Given the description of an element on the screen output the (x, y) to click on. 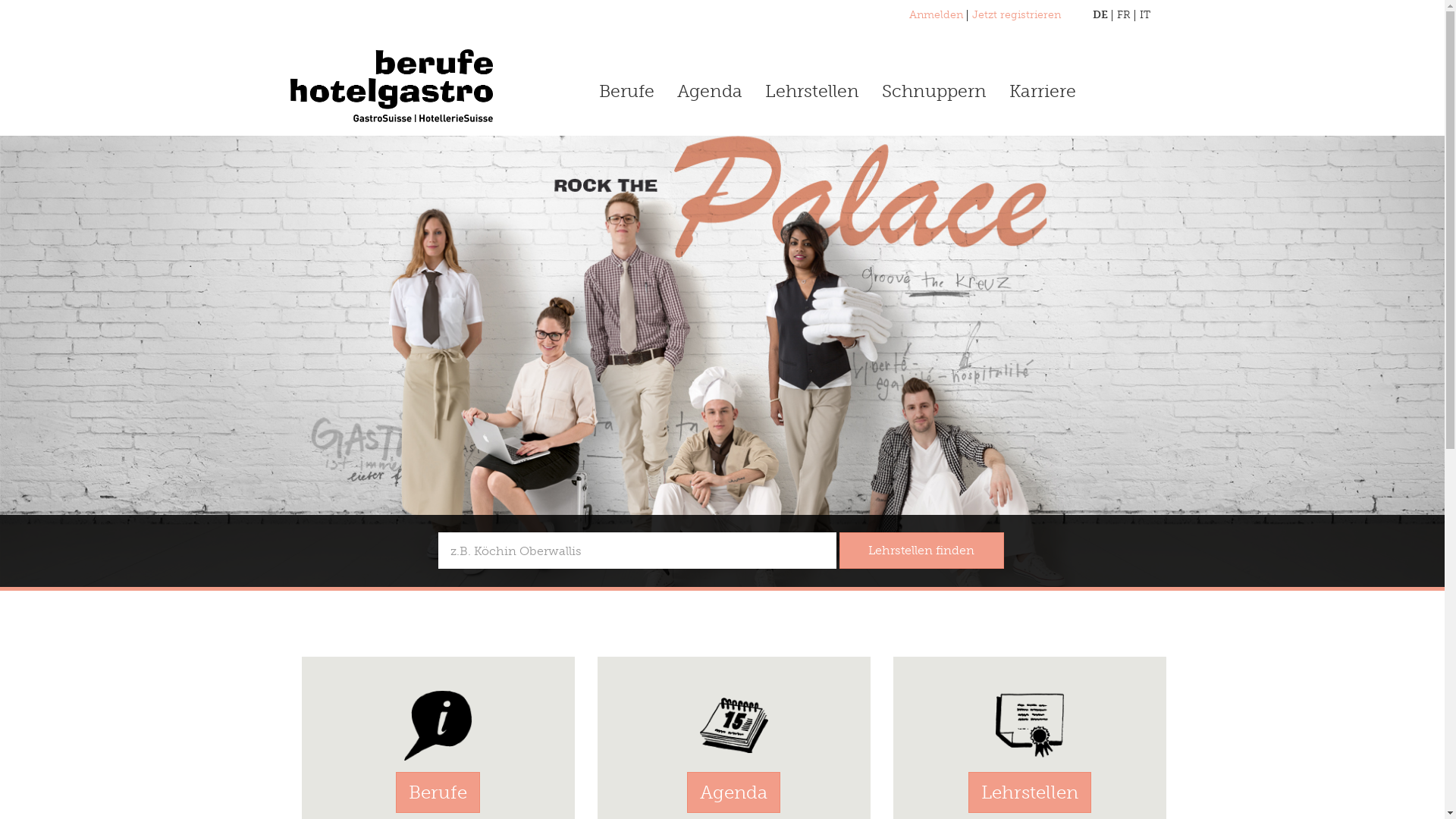
Anmelden Element type: text (934, 15)
Schnuppern Element type: text (933, 74)
Lehrstellen finden Element type: text (921, 550)
Lehrstellen Element type: text (811, 74)
Berufe Element type: text (437, 791)
IT Element type: text (1144, 15)
Lehrstellen Element type: text (1028, 791)
Karriere Element type: text (1042, 74)
Agenda Element type: text (733, 791)
Jetzt registrieren Element type: text (1016, 15)
Berufe Element type: text (625, 74)
FR Element type: text (1122, 15)
DE Element type: text (1099, 15)
Agenda Element type: text (709, 74)
